Given the description of an element on the screen output the (x, y) to click on. 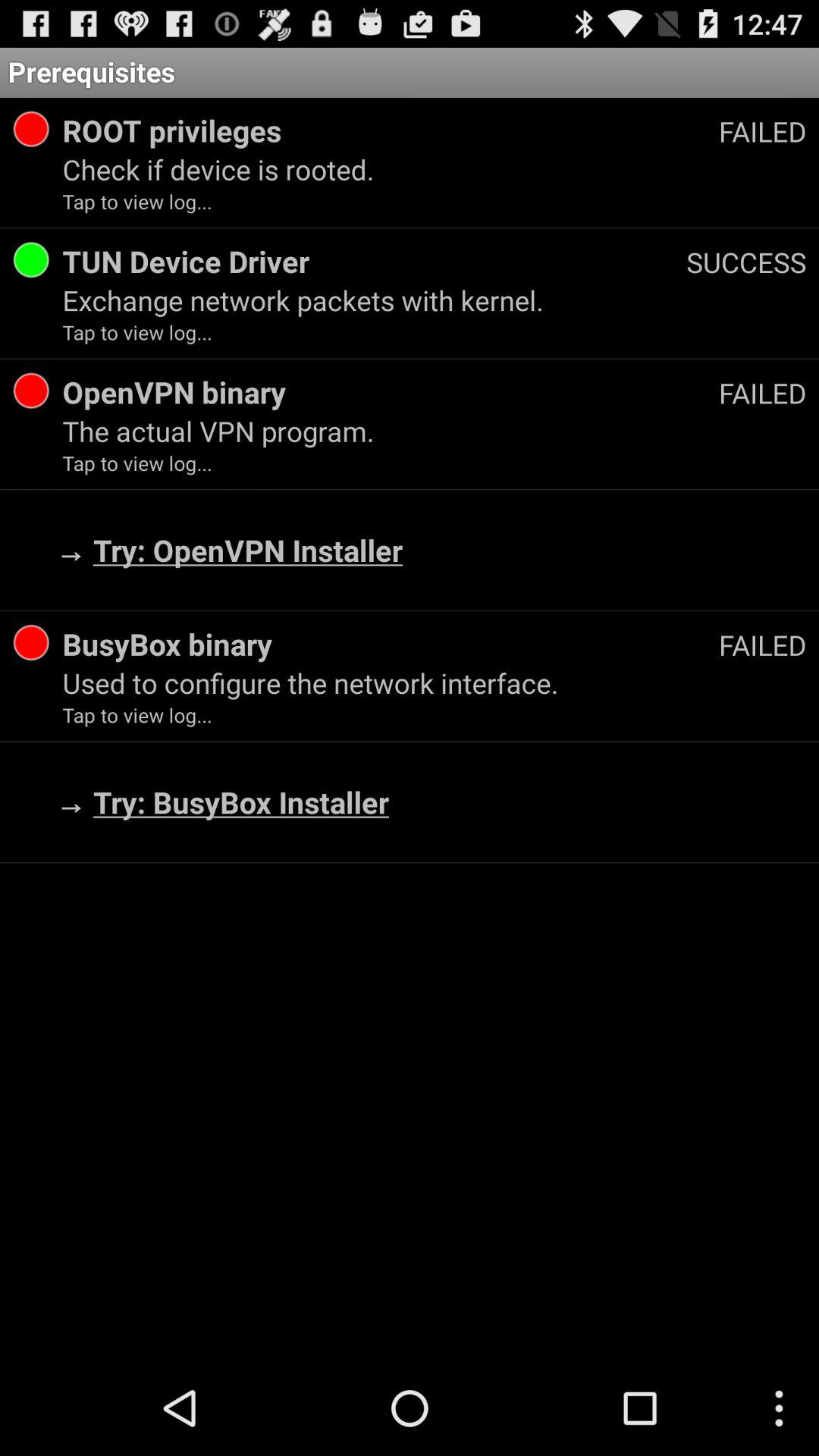
choose the icon below openvpn binary (434, 430)
